Given the description of an element on the screen output the (x, y) to click on. 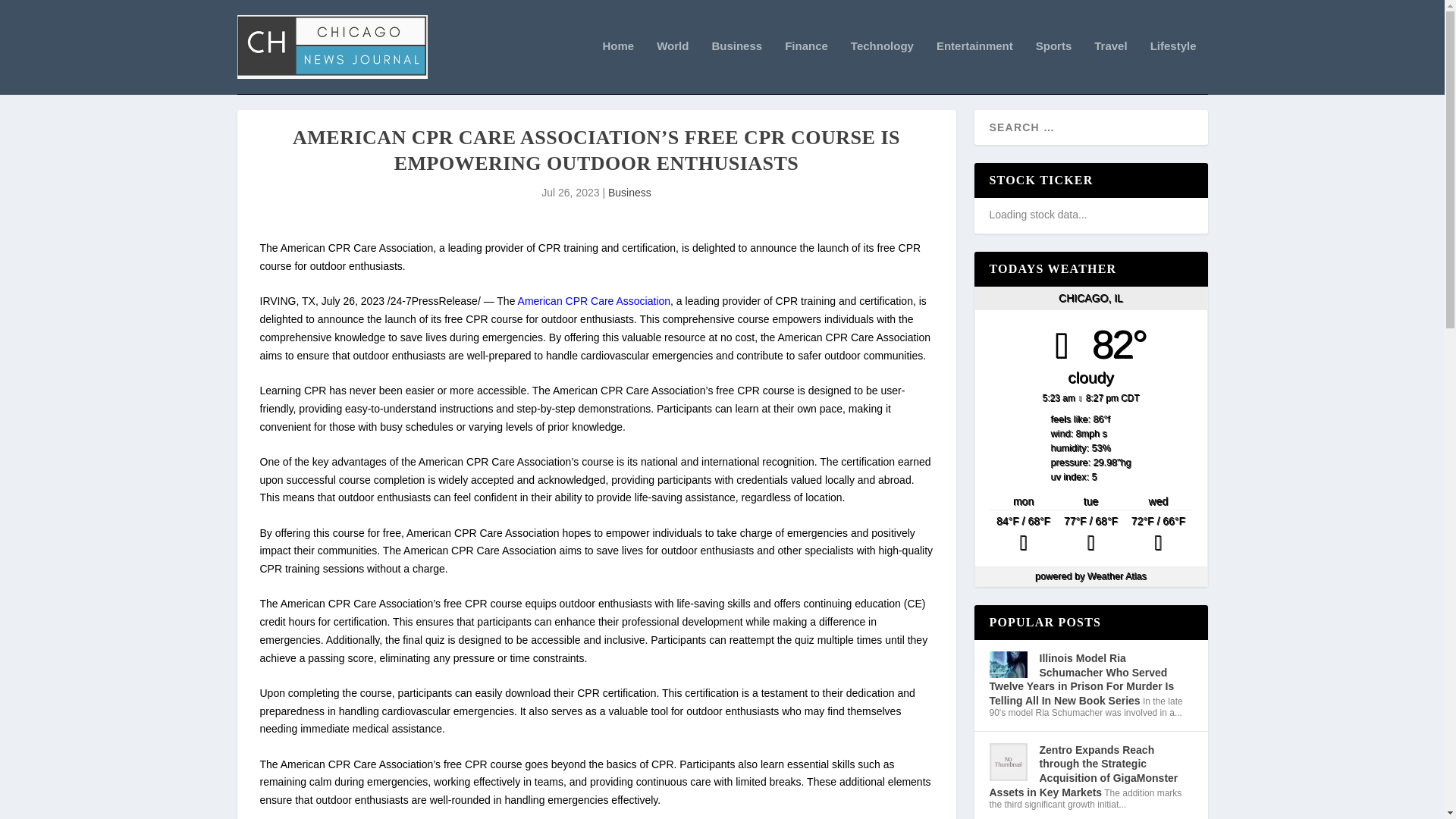
Business (736, 67)
Search (31, 13)
Rain (1158, 534)
Technology (882, 67)
PM Showers (1090, 534)
Business (629, 192)
Scattered Thunderstorms (1023, 534)
Entertainment (974, 67)
American CPR Care Association (594, 300)
